Given the description of an element on the screen output the (x, y) to click on. 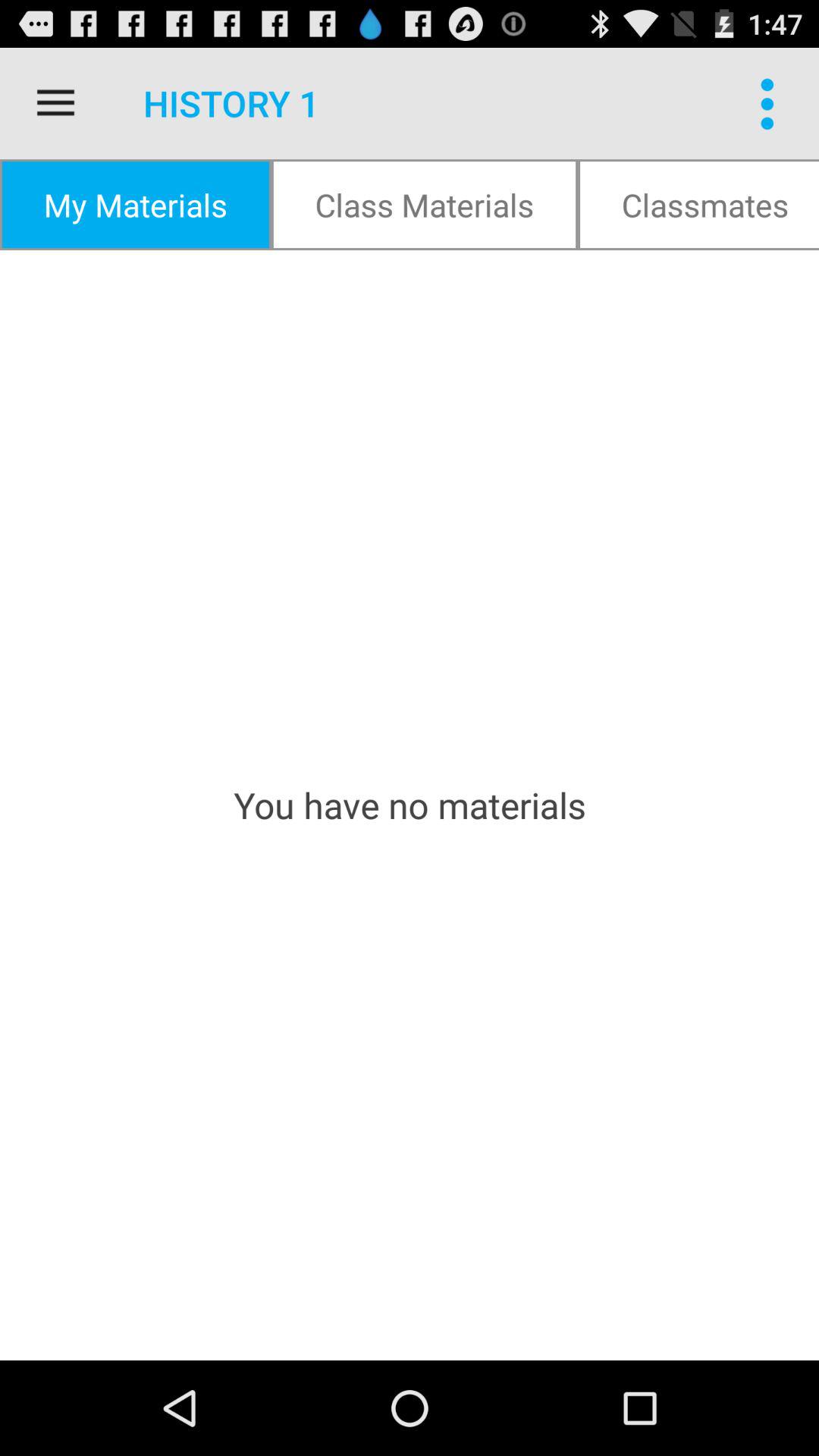
tap the item above the you have no (698, 204)
